Given the description of an element on the screen output the (x, y) to click on. 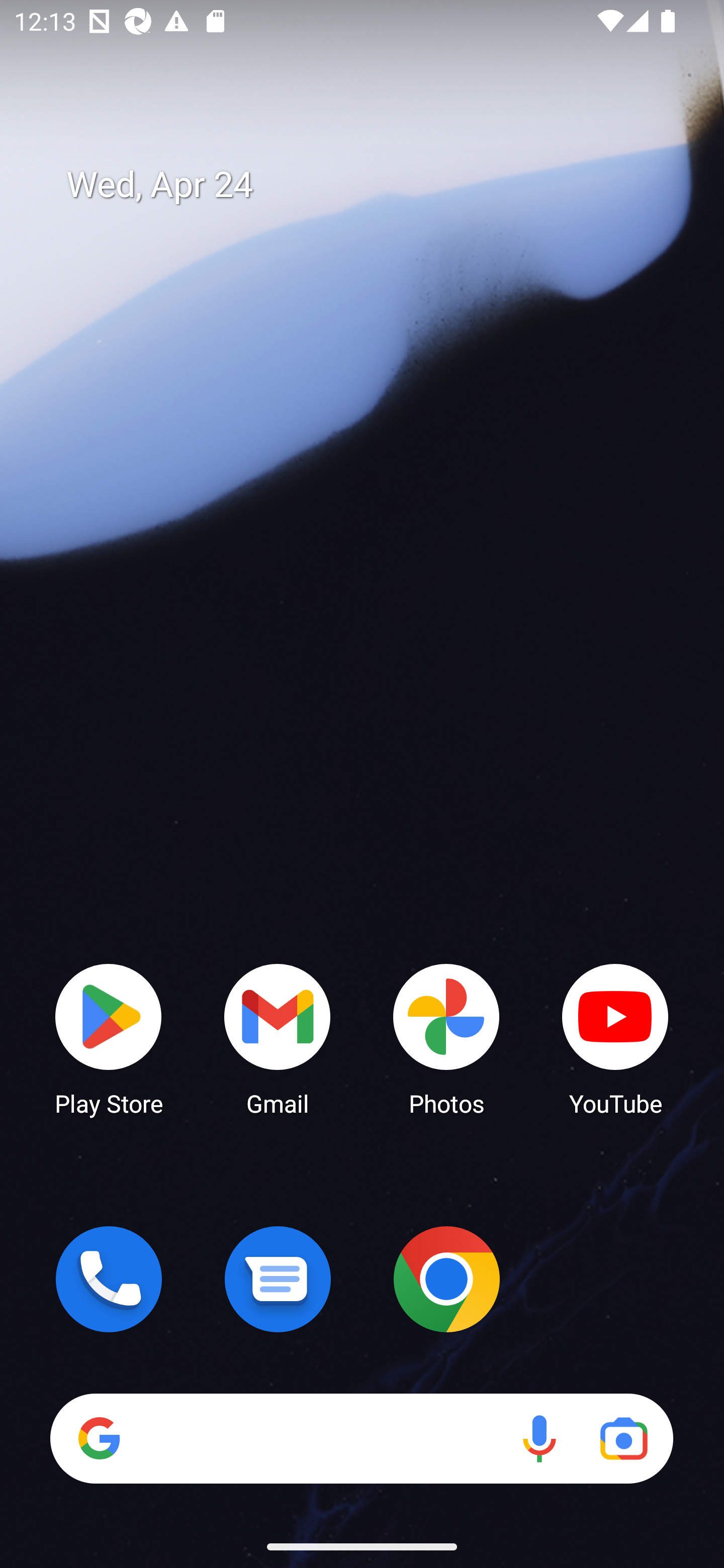
Wed, Apr 24 (375, 184)
Play Store (108, 1038)
Gmail (277, 1038)
Photos (445, 1038)
YouTube (615, 1038)
Phone (108, 1279)
Messages (277, 1279)
Chrome (446, 1279)
Search Voice search Google Lens (361, 1438)
Voice search (539, 1438)
Google Lens (623, 1438)
